Given the description of an element on the screen output the (x, y) to click on. 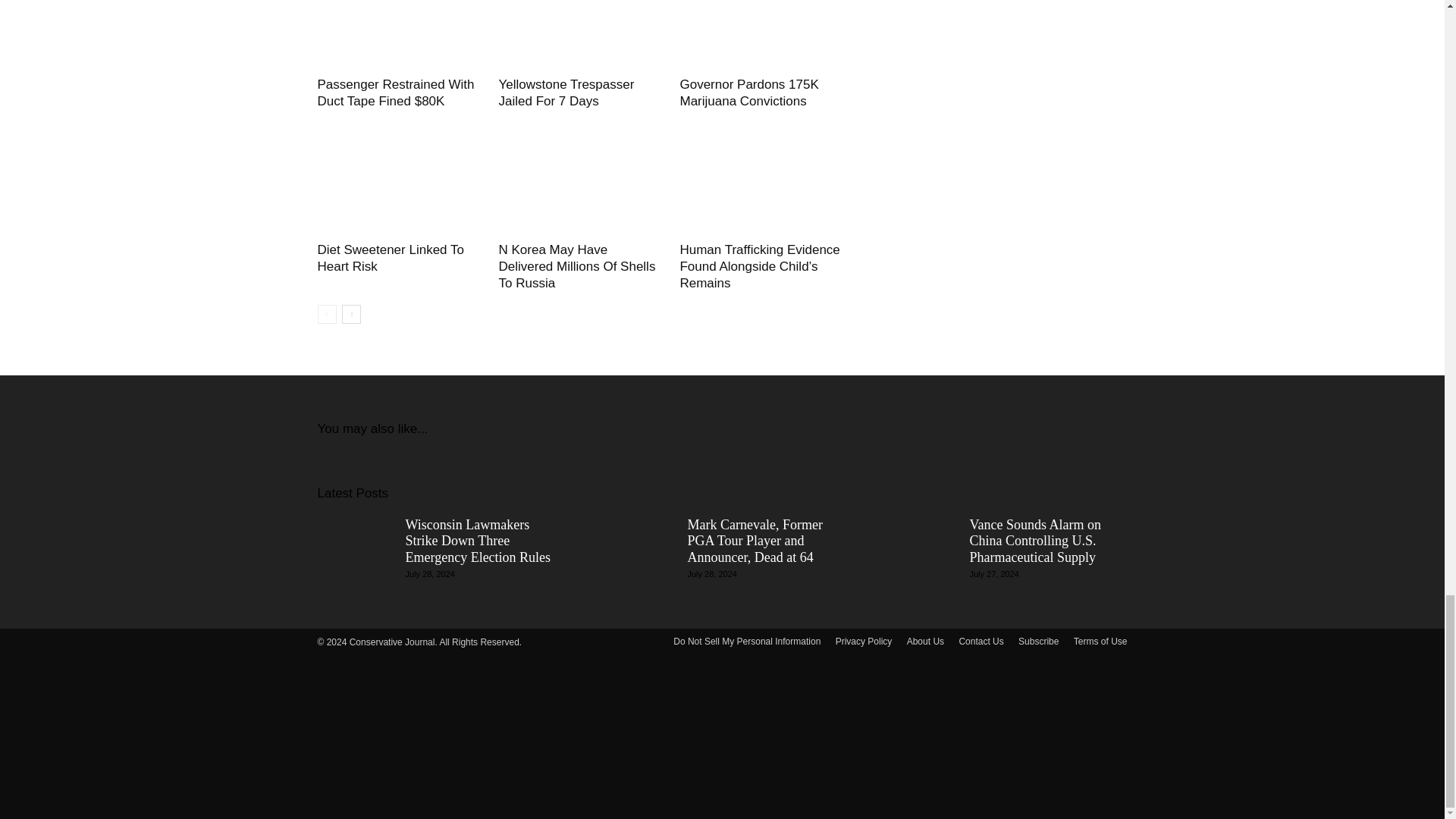
Governor Pardons 175K Marijuana Convictions (761, 35)
Diet Sweetener Linked To Heart Risk (399, 179)
N Korea May Have Delivered Millions Of Shells To Russia (576, 266)
N Korea May Have Delivered Millions Of Shells To Russia (580, 179)
Yellowstone Trespasser Jailed For 7 Days (565, 92)
Yellowstone Trespasser Jailed For 7 Days (580, 35)
Diet Sweetener Linked To Heart Risk (390, 257)
Governor Pardons 175K Marijuana Convictions (748, 92)
Diet Sweetener Linked To Heart Risk (390, 257)
Governor Pardons 175K Marijuana Convictions (748, 92)
Yellowstone Trespasser Jailed For 7 Days (565, 92)
